Given the description of an element on the screen output the (x, y) to click on. 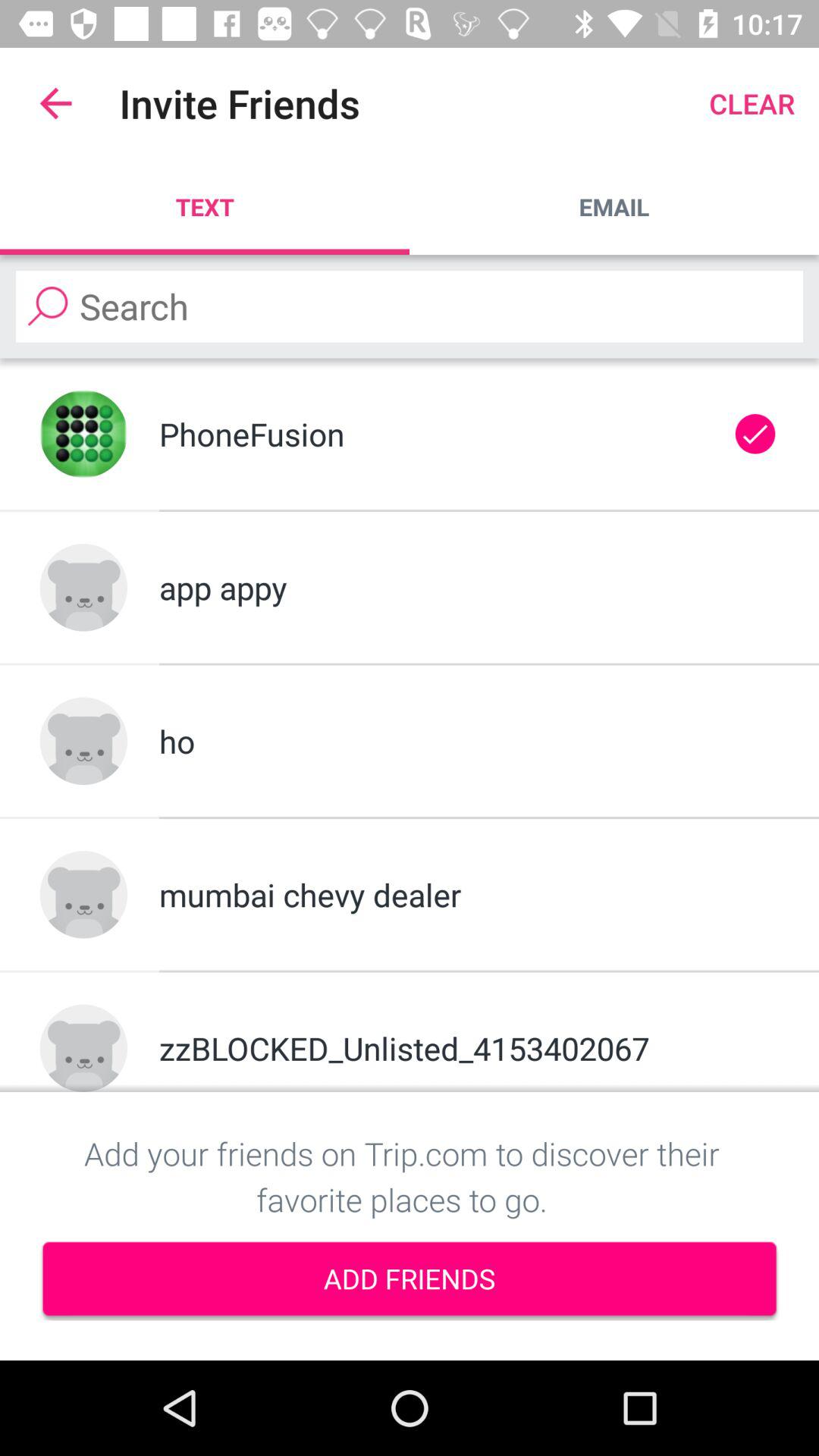
click the icon below ho icon (469, 894)
